Given the description of an element on the screen output the (x, y) to click on. 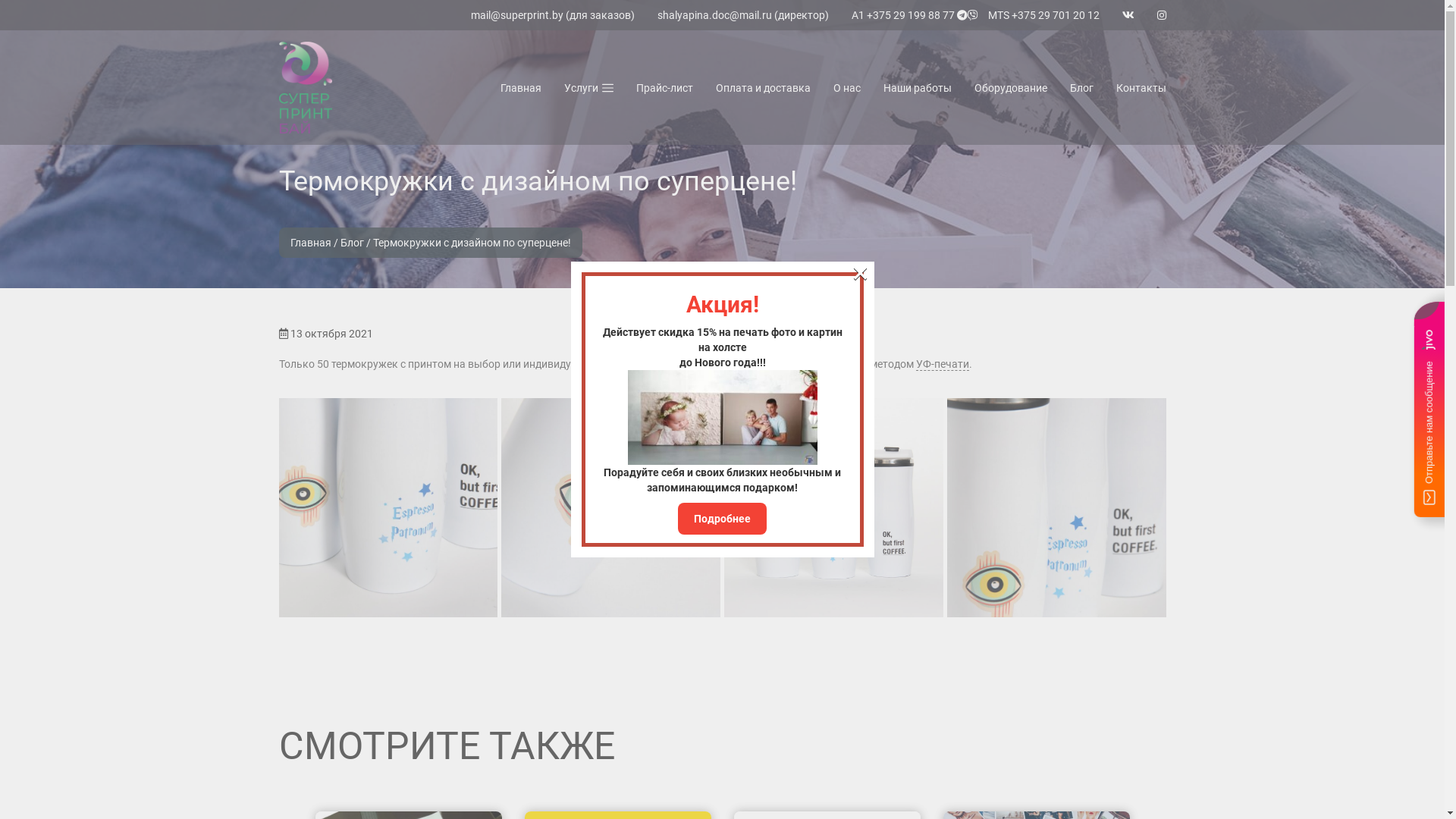
mail@superprint.by Element type: text (516, 15)
+375 29 701 20 12 Element type: text (1055, 15)
+375 29 199 88 77 Element type: text (909, 15)
shalyapina.doc@mail.ru Element type: text (713, 15)
